Given the description of an element on the screen output the (x, y) to click on. 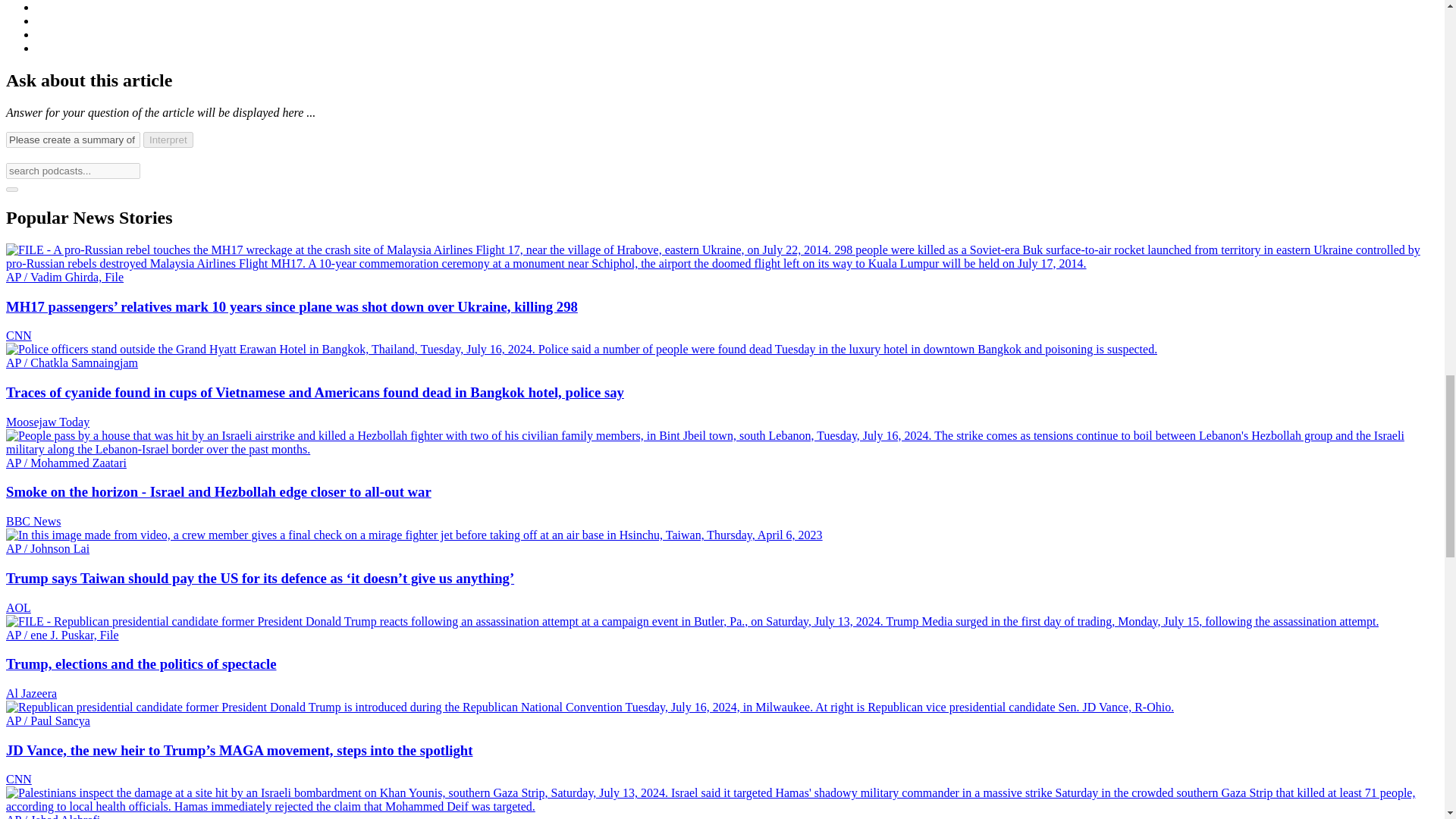
Please create a summary of this article (72, 139)
